Given the description of an element on the screen output the (x, y) to click on. 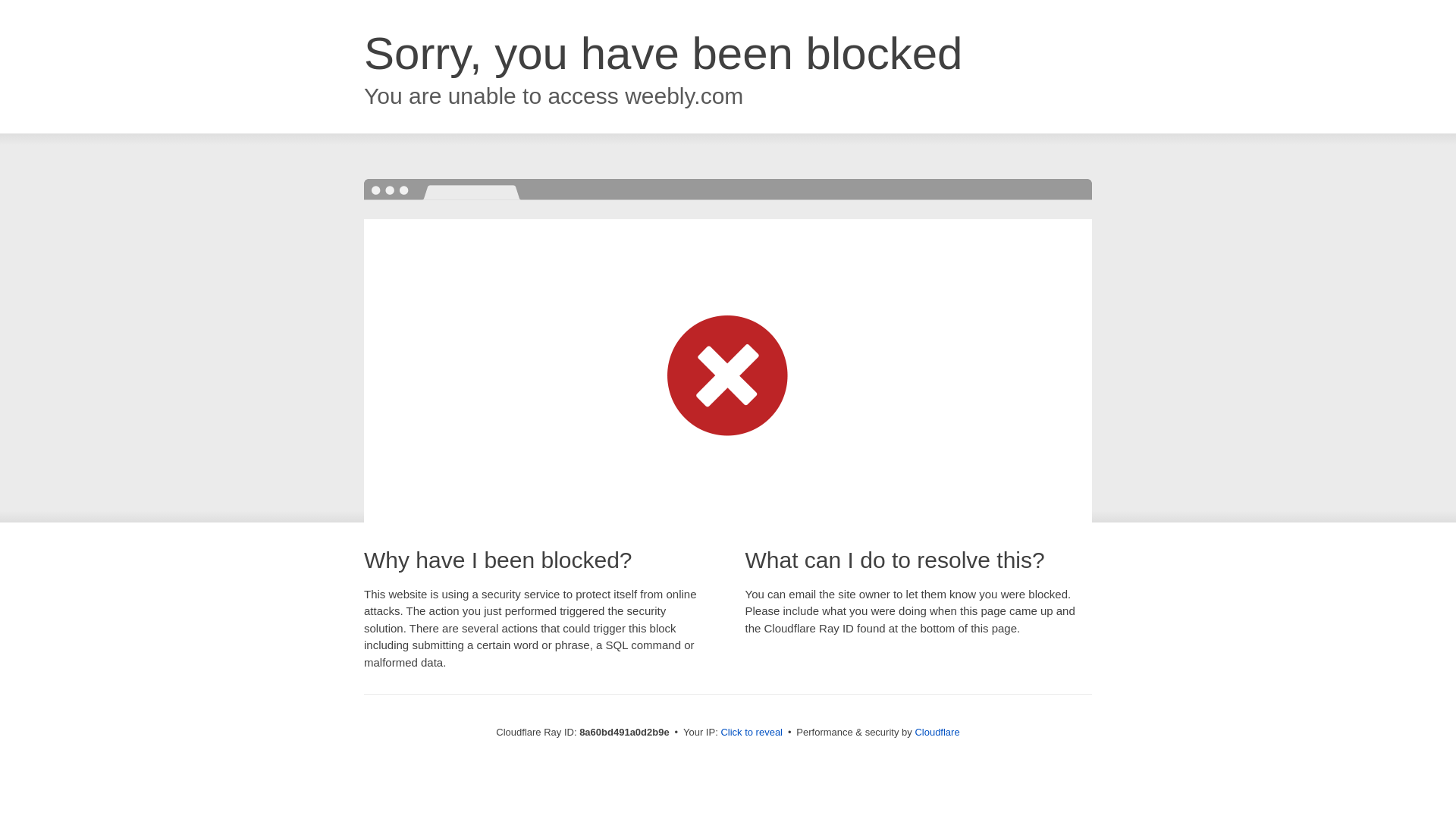
Click to reveal (751, 732)
Cloudflare (936, 731)
